Given the description of an element on the screen output the (x, y) to click on. 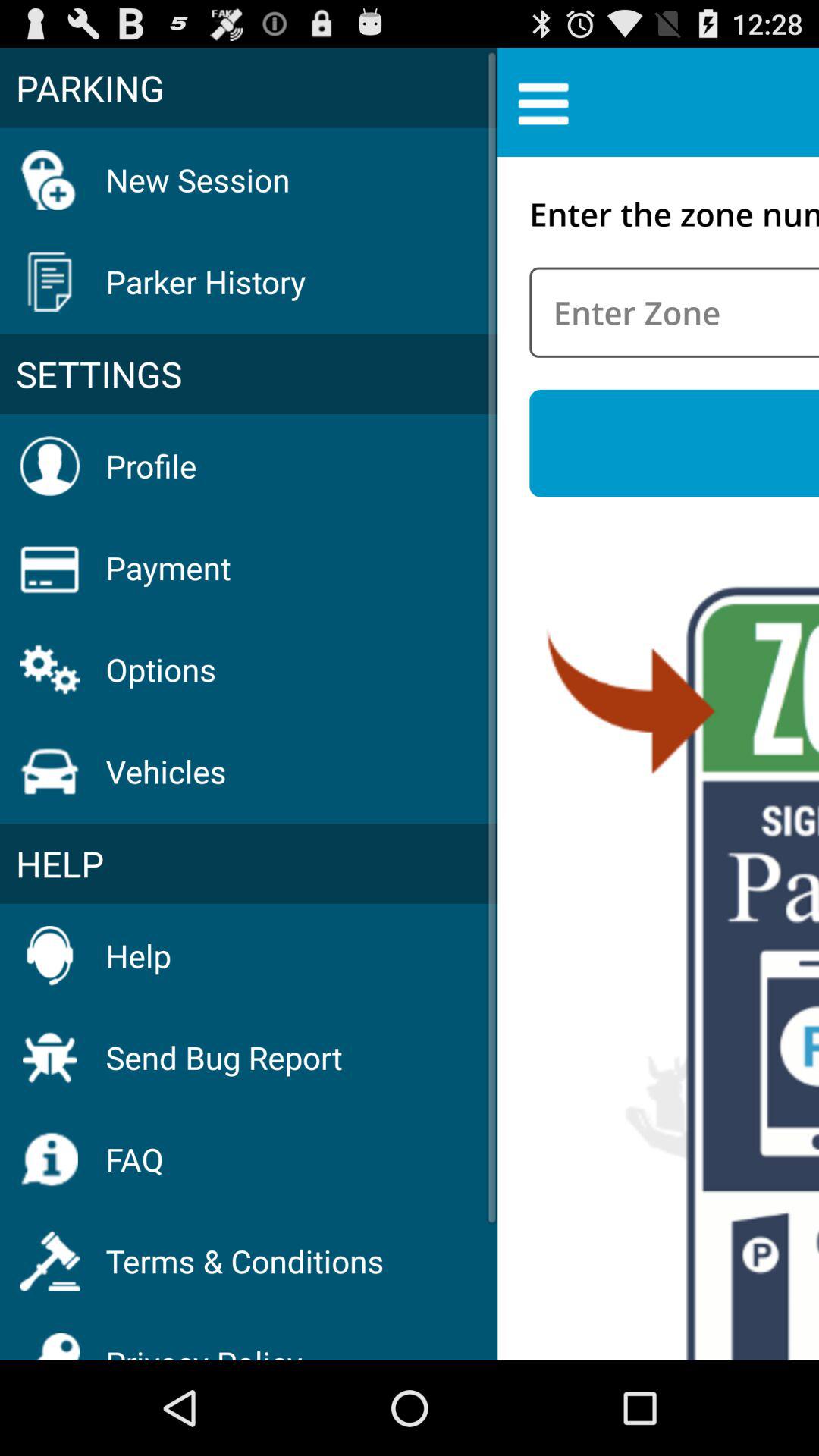
turn on icon below help icon (223, 1056)
